Given the description of an element on the screen output the (x, y) to click on. 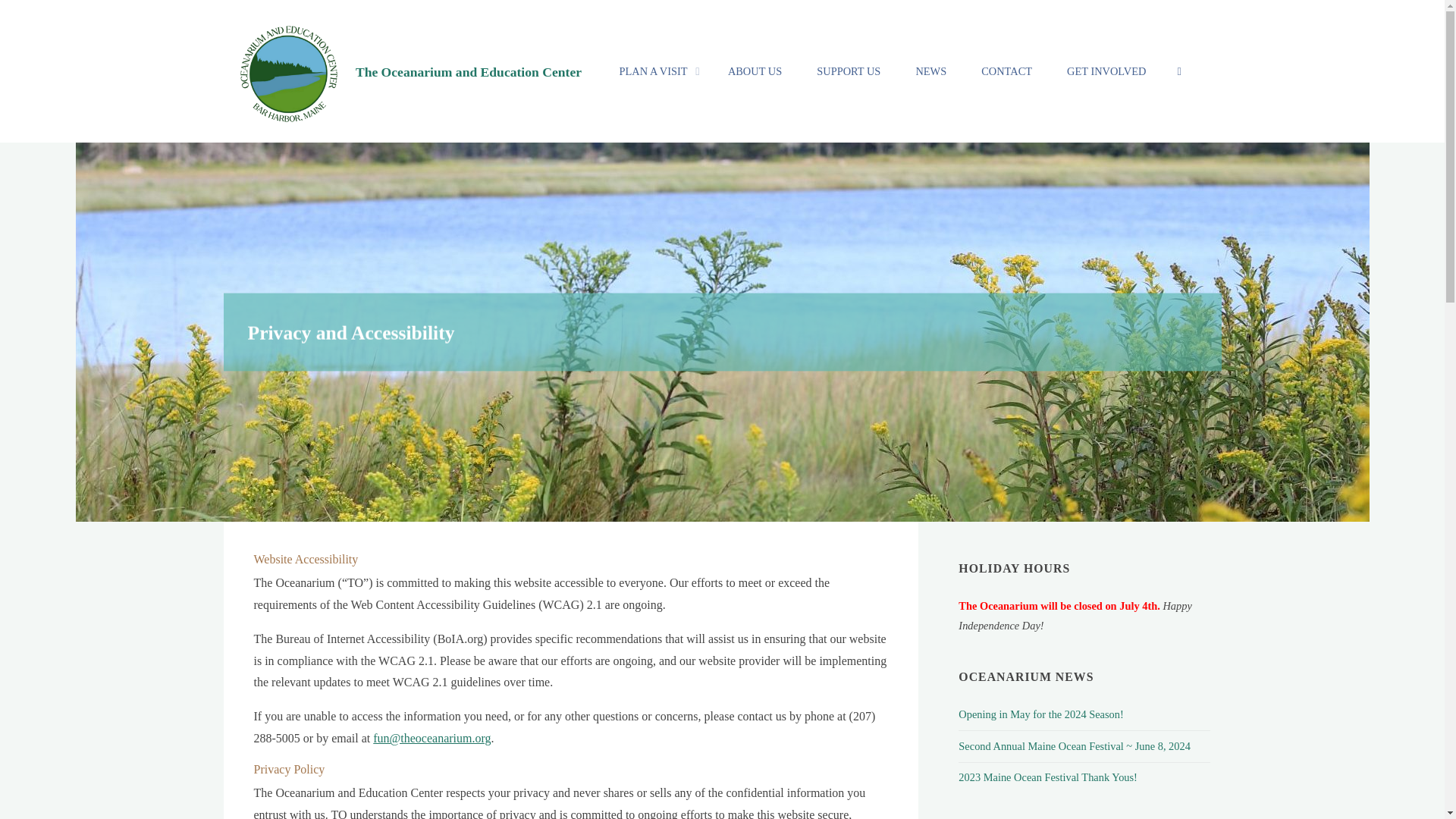
SEARCH (1180, 71)
GET INVOLVED (1106, 71)
ABOUT US (754, 71)
NEWS (930, 71)
The Oceanarium and Education Center (467, 71)
CONTACT (1006, 71)
SUPPORT US (848, 71)
PLAN A VISIT (656, 71)
The Oceanarium and Education Center (285, 70)
